Given the description of an element on the screen output the (x, y) to click on. 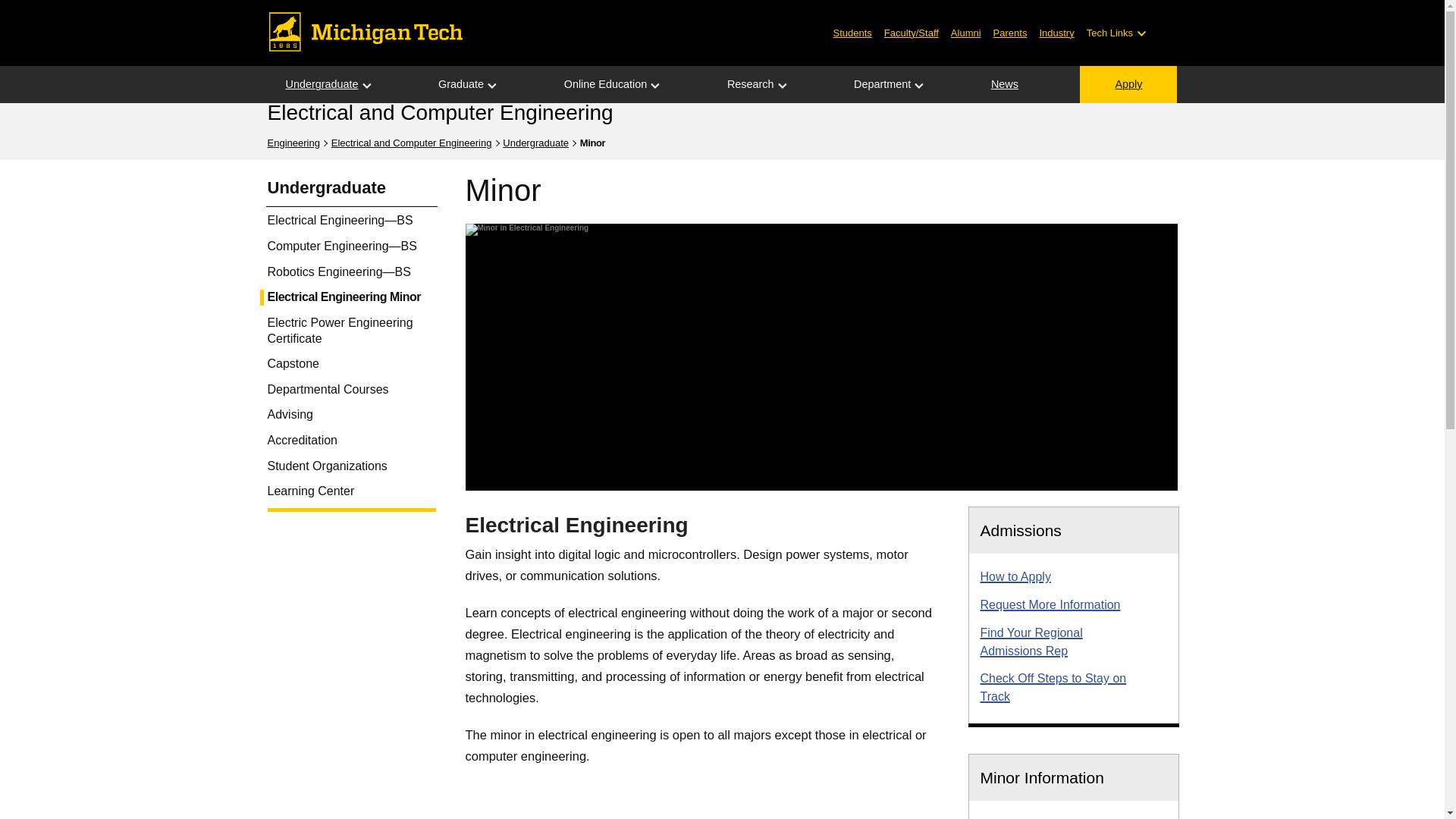
Parents (1010, 32)
Students (852, 32)
Open Search (1166, 33)
Industry (1056, 32)
Alumni (965, 32)
Undergraduate (320, 84)
